Given the description of an element on the screen output the (x, y) to click on. 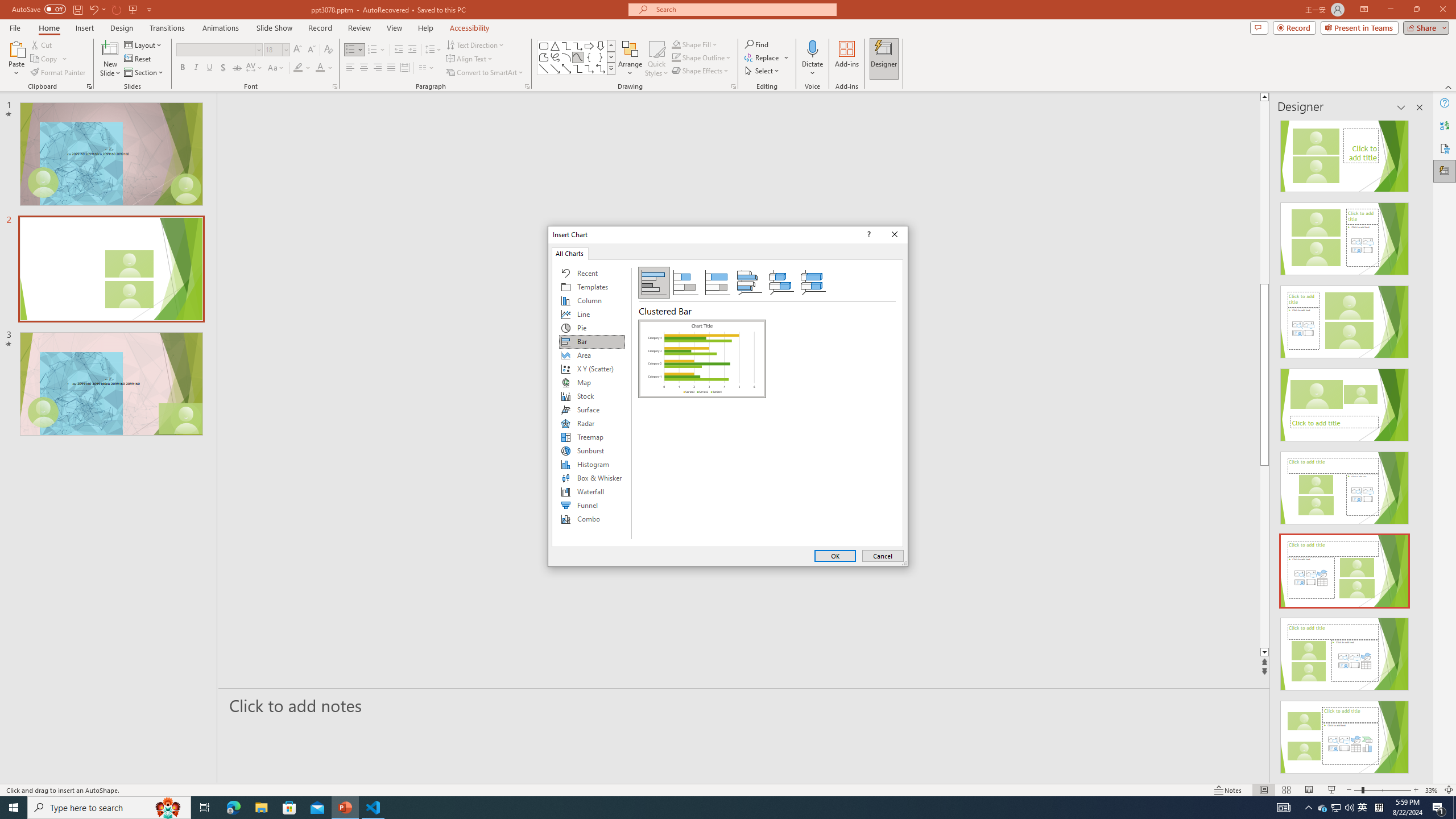
3-D Stacked Bar (781, 282)
IME Mode Icon - IME is disabled (1362, 807)
Running applications (700, 807)
Slide Notes (743, 705)
Line Spacing (433, 49)
Align Left (349, 67)
Connector: Elbow Double-Arrow (600, 68)
